Given the description of an element on the screen output the (x, y) to click on. 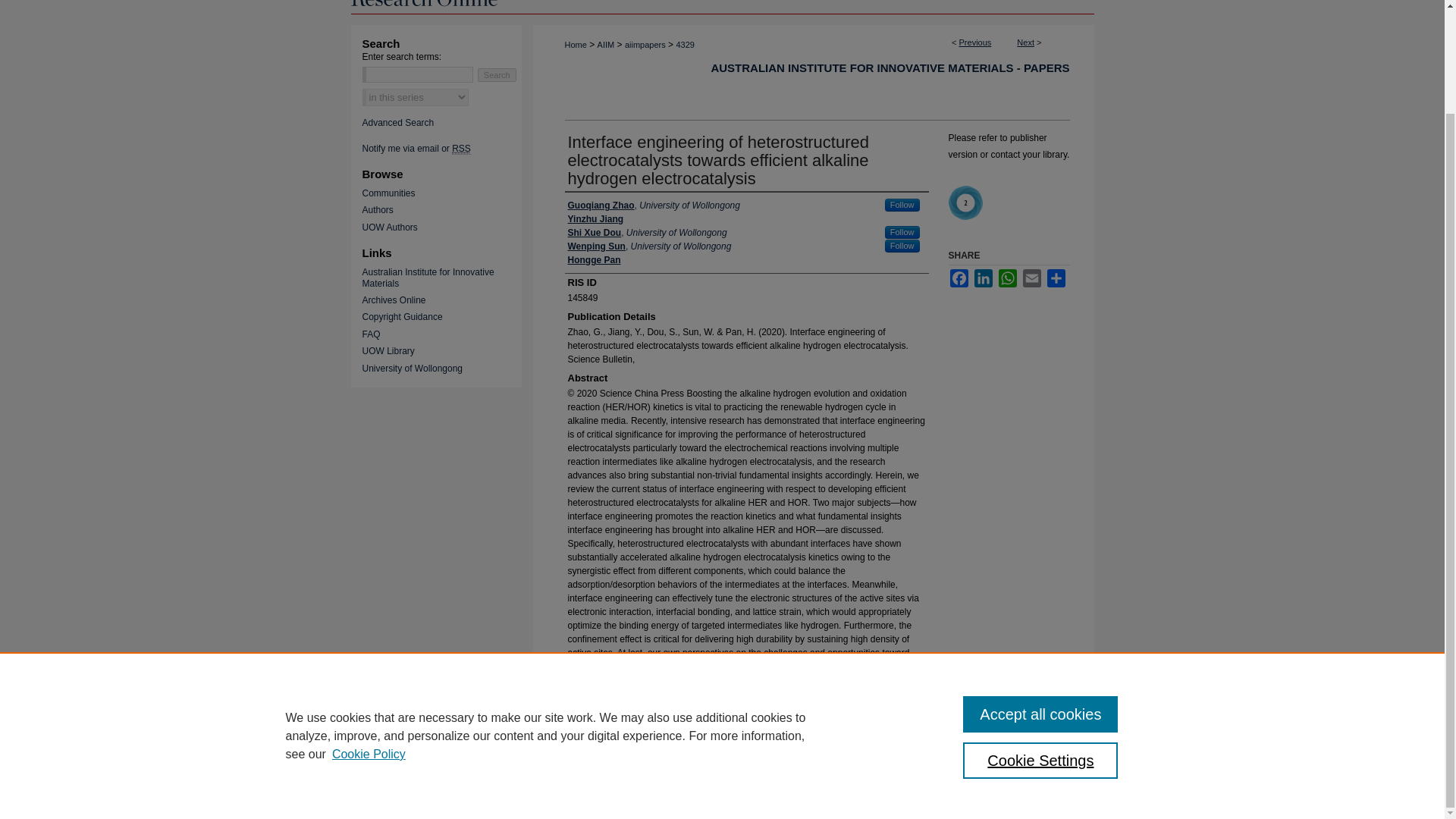
Yinzhu Jiang (595, 219)
WhatsApp (1006, 278)
LinkedIn (982, 278)
Search (496, 74)
Follow Guoqiang Zhao (902, 205)
AUSTRALIAN INSTITUTE FOR INNOVATIVE MATERIALS - PAPERS (889, 67)
Follow (902, 232)
Browse by Communities (447, 193)
Search (496, 74)
Follow (902, 245)
Facebook (958, 278)
Follow Shi Xue Dou (902, 232)
Share (1055, 278)
Advanced Search (397, 122)
Notify me via email or RSS (447, 148)
